Given the description of an element on the screen output the (x, y) to click on. 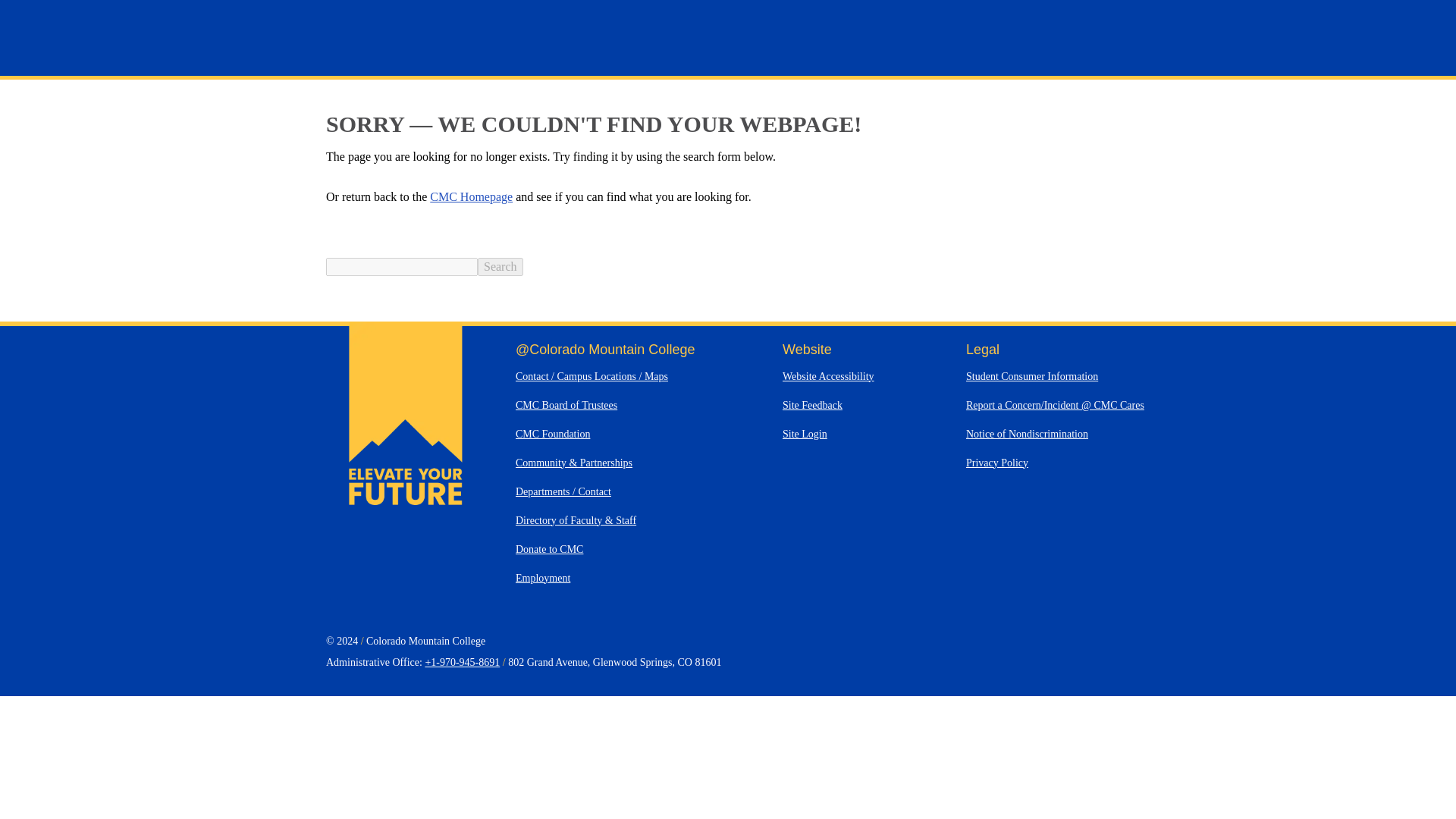
Donate to CMC (549, 549)
CMC Foundation (552, 433)
Site Login (805, 433)
Notice of Nondiscrimination (1026, 433)
Employment (542, 577)
Site Feedback (813, 405)
Student Consumer Information (1031, 376)
CMC Homepage (470, 196)
Privacy Policy (996, 462)
elevate-banner-yellow (406, 500)
CMC Board of Trustees (566, 405)
Search (499, 266)
Website Accessibility (829, 376)
